Given the description of an element on the screen output the (x, y) to click on. 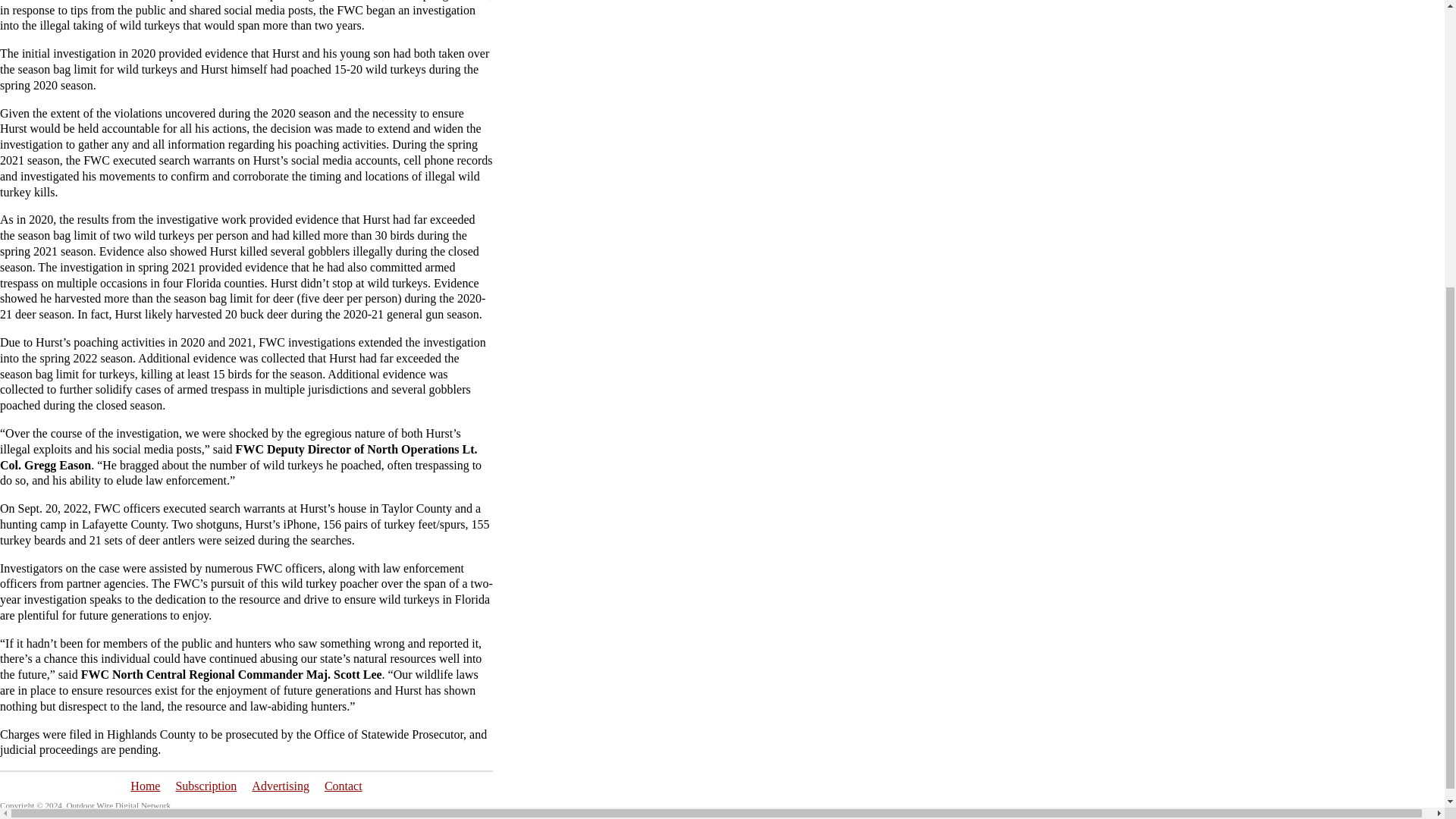
Advertising (279, 785)
Contact (343, 785)
Home (145, 785)
Subscription (204, 785)
